Given the description of an element on the screen output the (x, y) to click on. 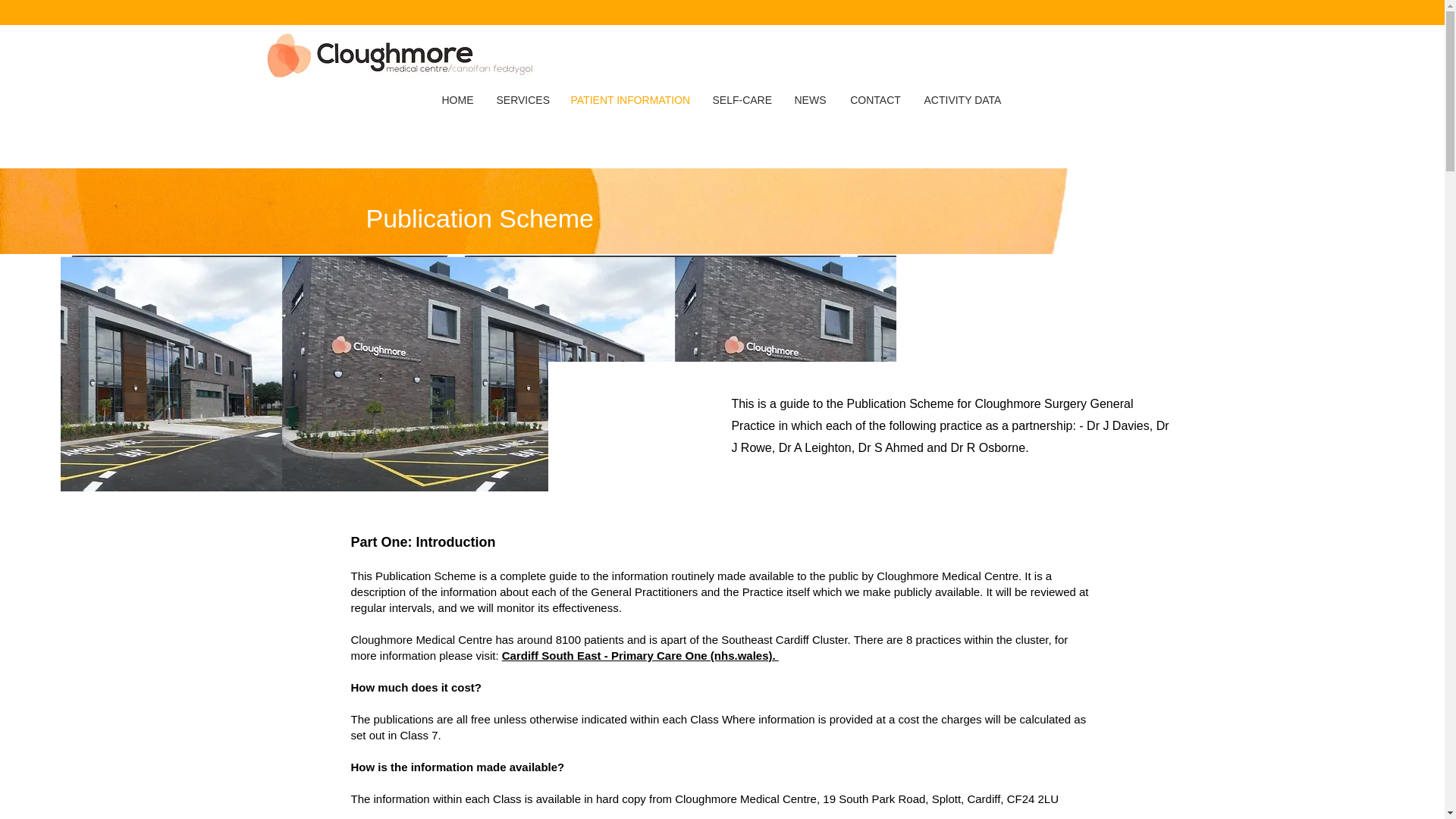
ACTIVITY DATA (961, 99)
SELF-CARE (740, 99)
PATIENT INFORMATION (630, 99)
CONTACT (875, 99)
SERVICES (521, 99)
